Given the description of an element on the screen output the (x, y) to click on. 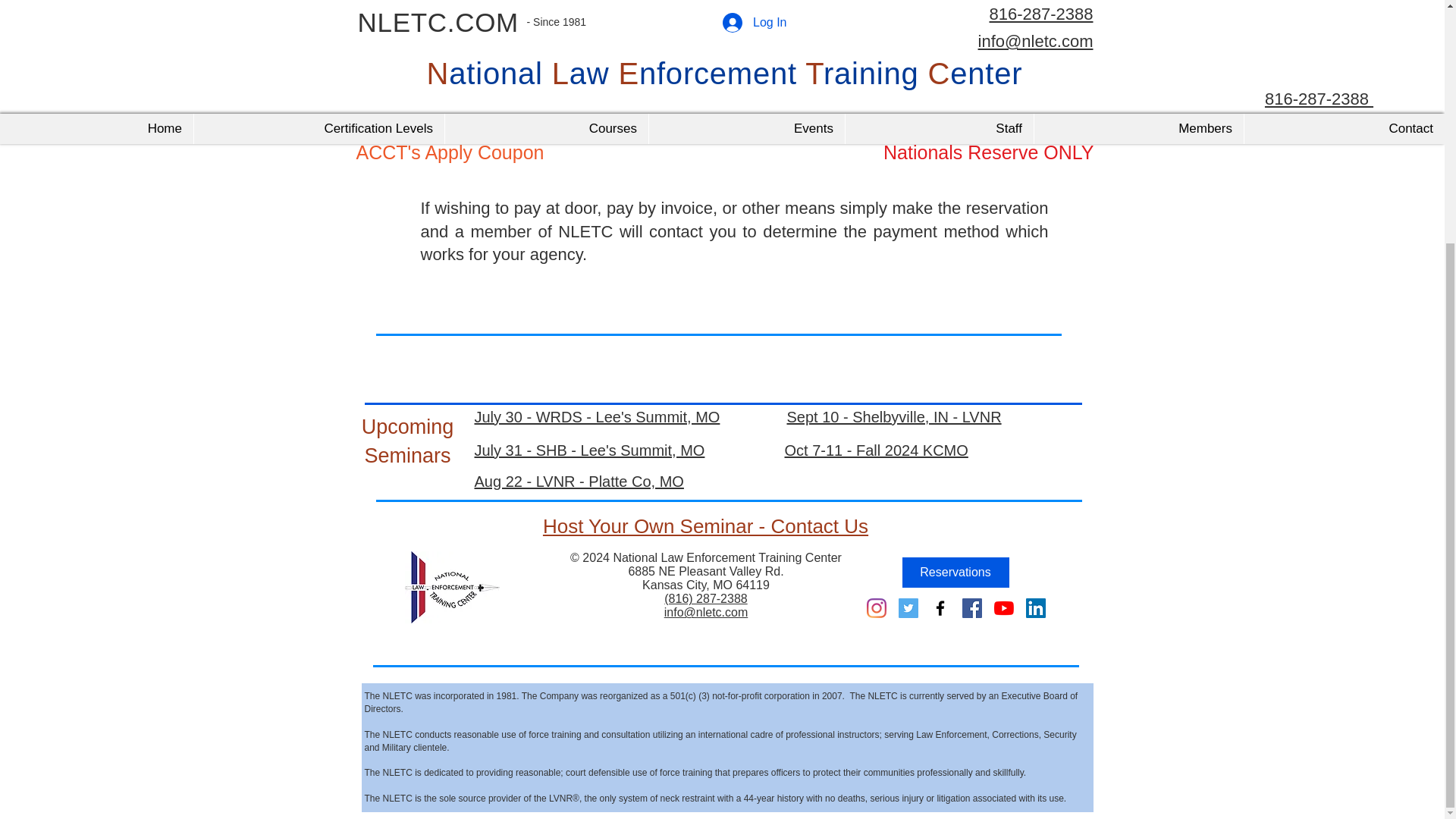
site (931, 72)
